Given the description of an element on the screen output the (x, y) to click on. 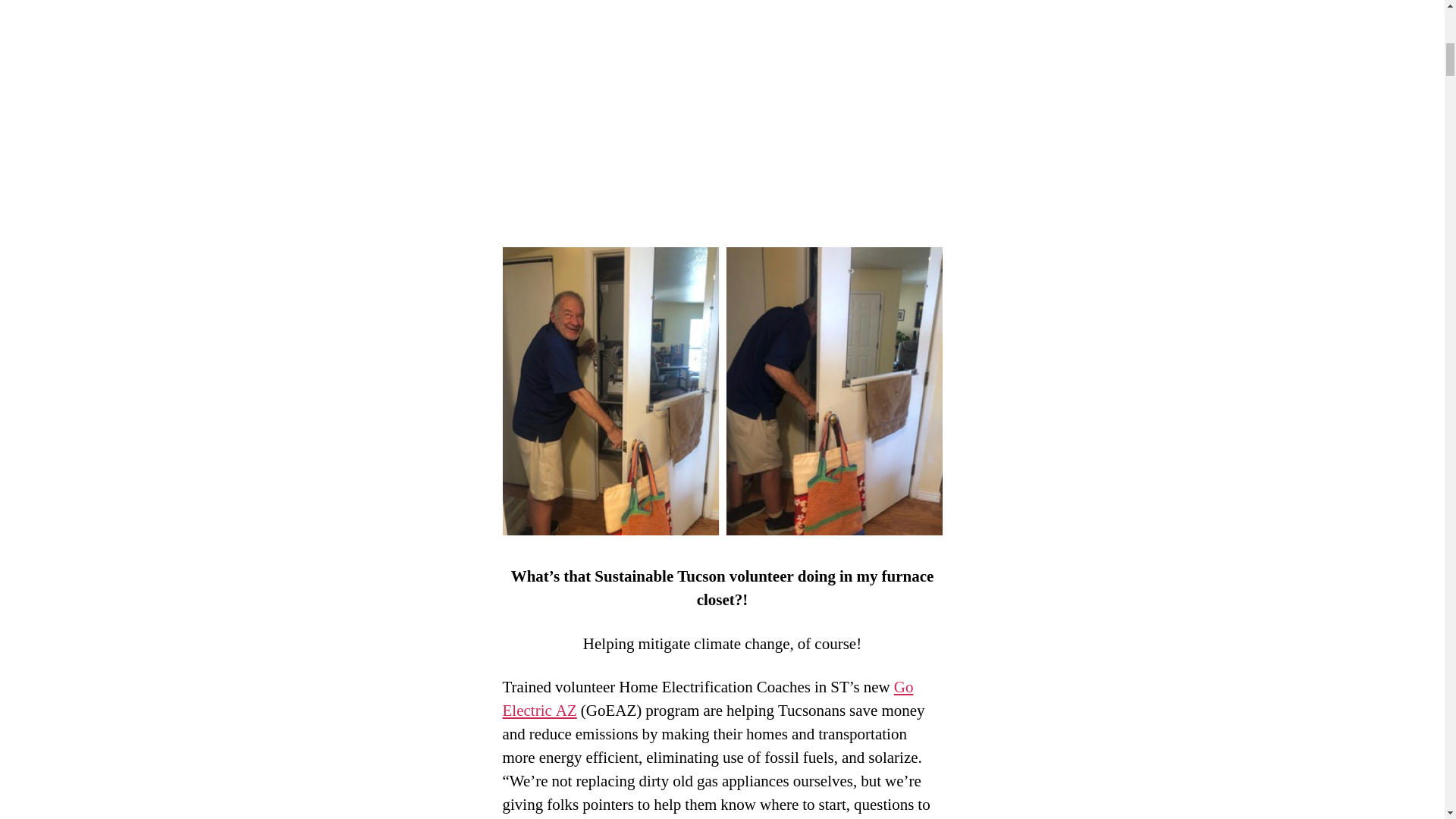
Electrifying Our Lives   SD 480p (722, 108)
Go Electric AZ (707, 699)
